Given the description of an element on the screen output the (x, y) to click on. 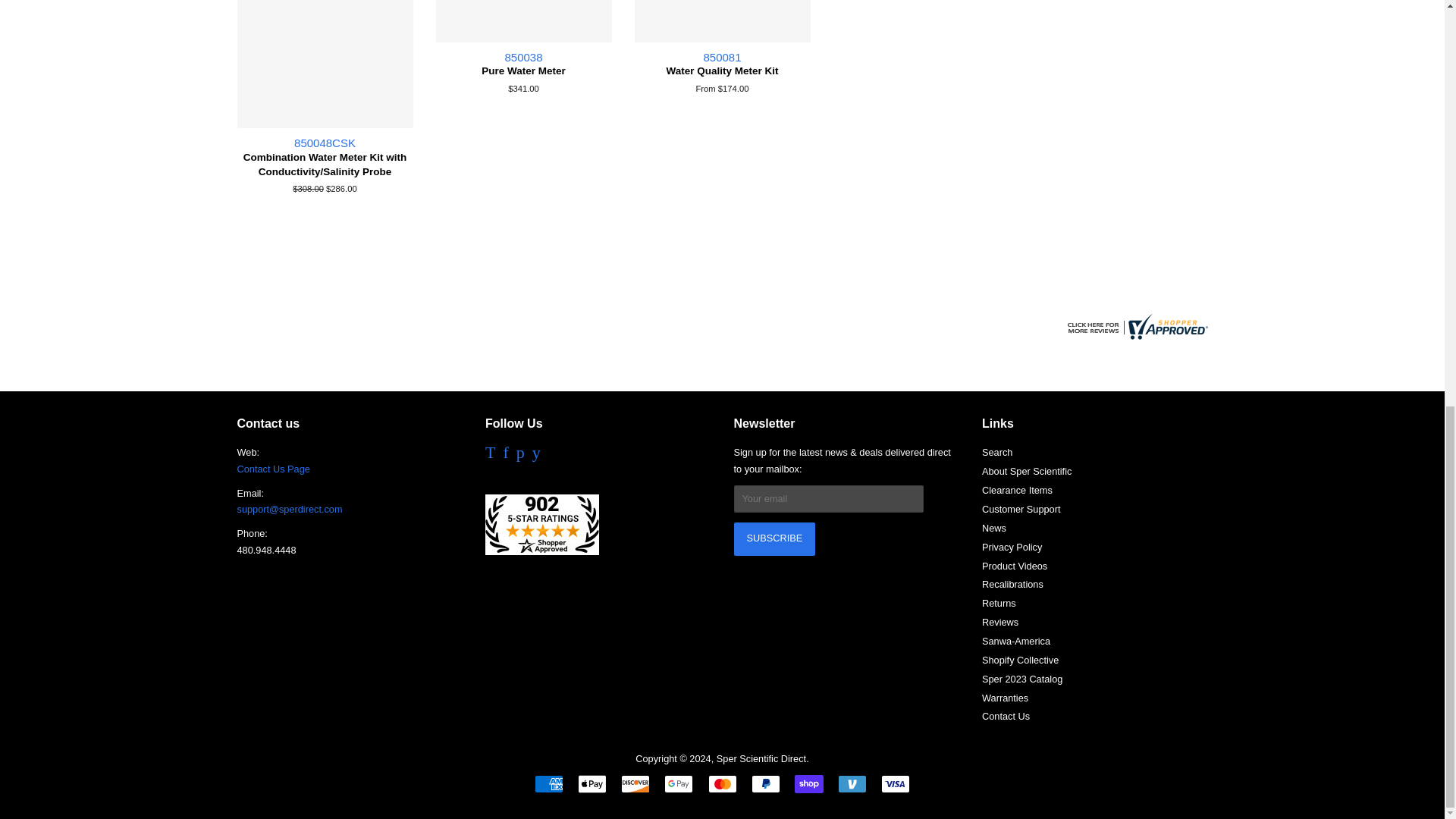
Mastercard (721, 783)
Venmo (852, 783)
Google Pay (678, 783)
Reviews (1134, 335)
Subscribe (774, 539)
Visa (895, 783)
Shop Pay (809, 783)
American Express (548, 783)
PayPal (765, 783)
Apple Pay (592, 783)
Discover (635, 783)
